Given the description of an element on the screen output the (x, y) to click on. 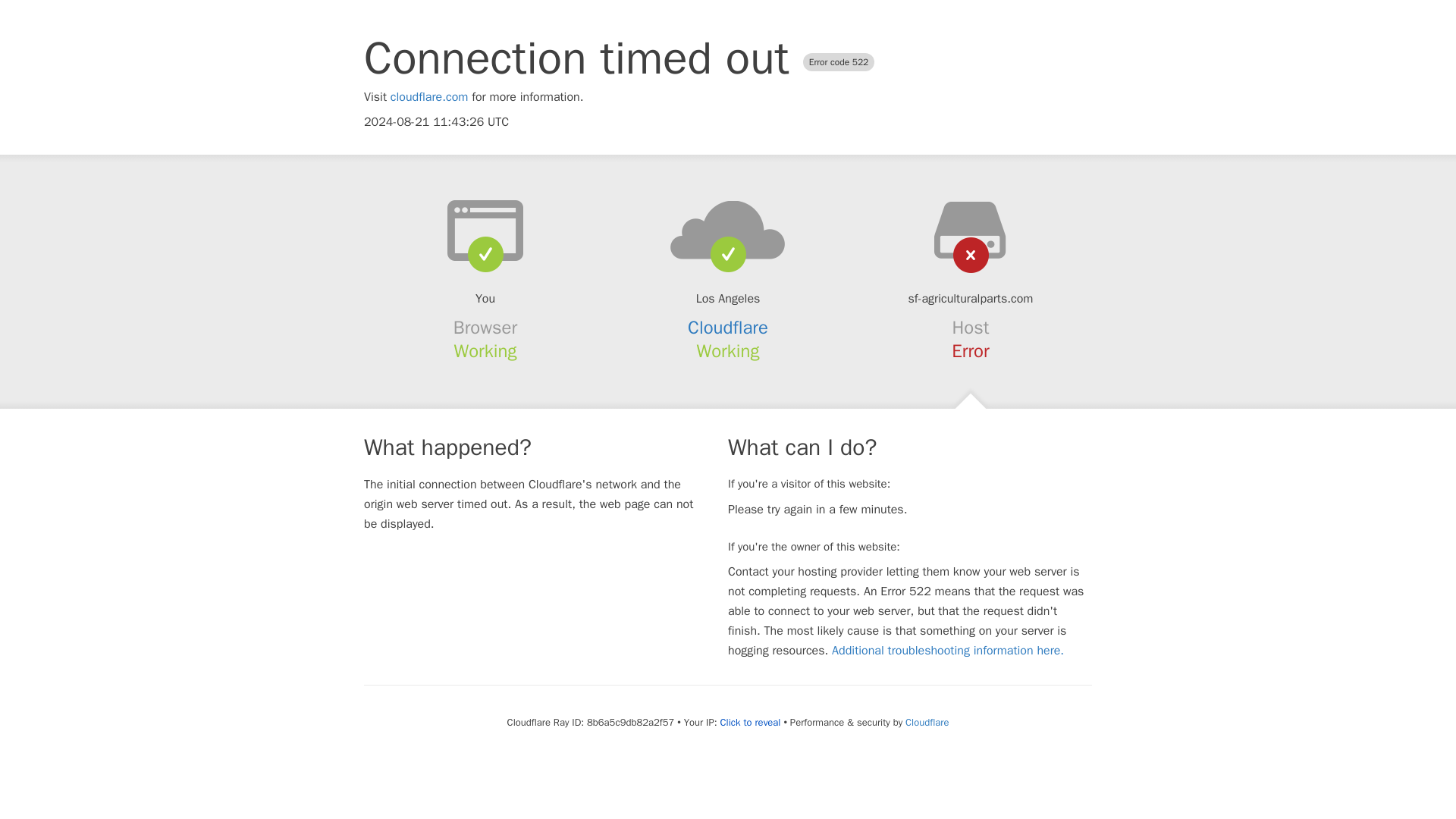
cloudflare.com (429, 96)
Click to reveal (750, 722)
Cloudflare (927, 721)
Cloudflare (727, 327)
Additional troubleshooting information here. (947, 650)
